Given the description of an element on the screen output the (x, y) to click on. 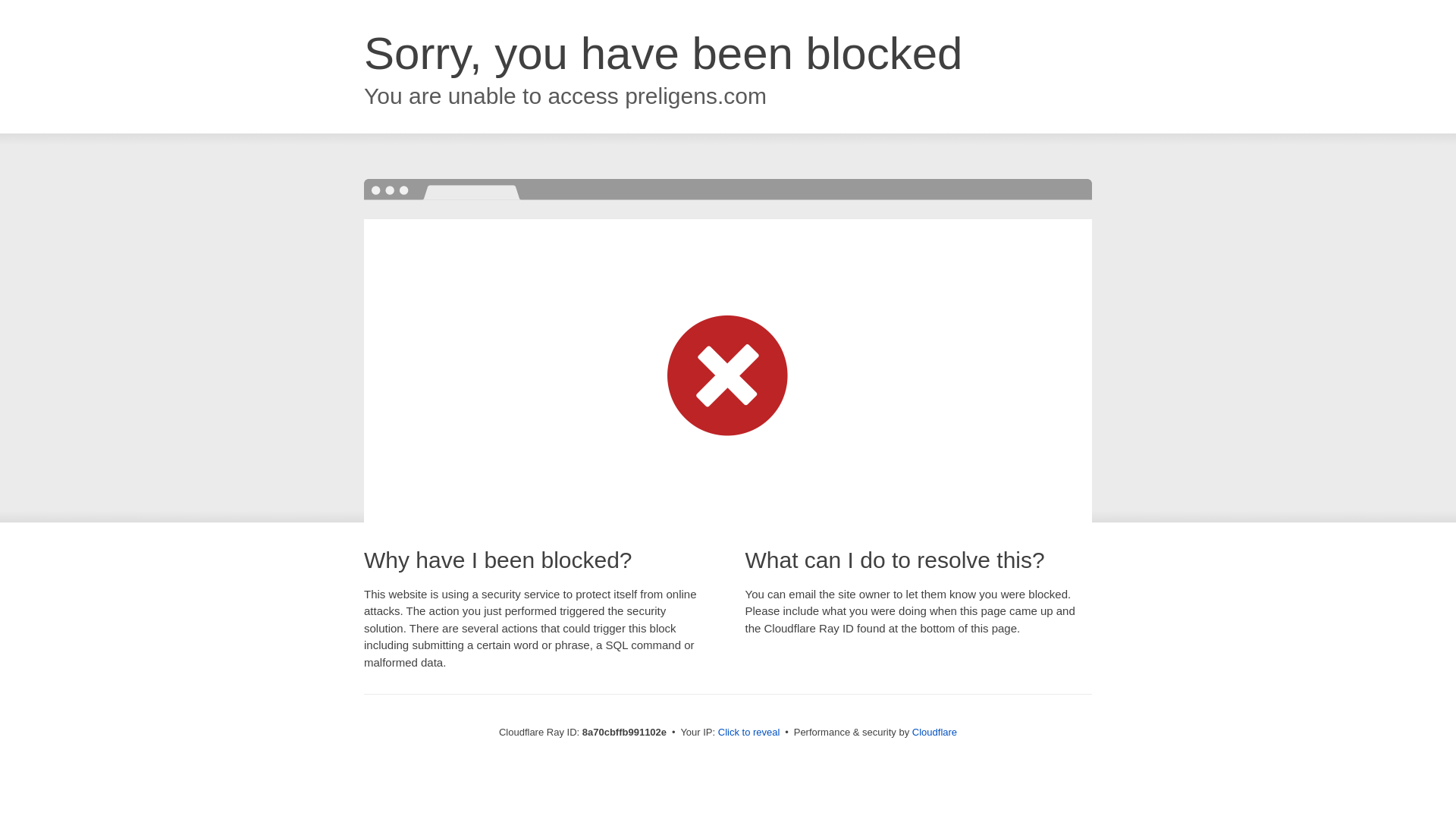
Cloudflare (934, 731)
Click to reveal (748, 732)
